Given the description of an element on the screen output the (x, y) to click on. 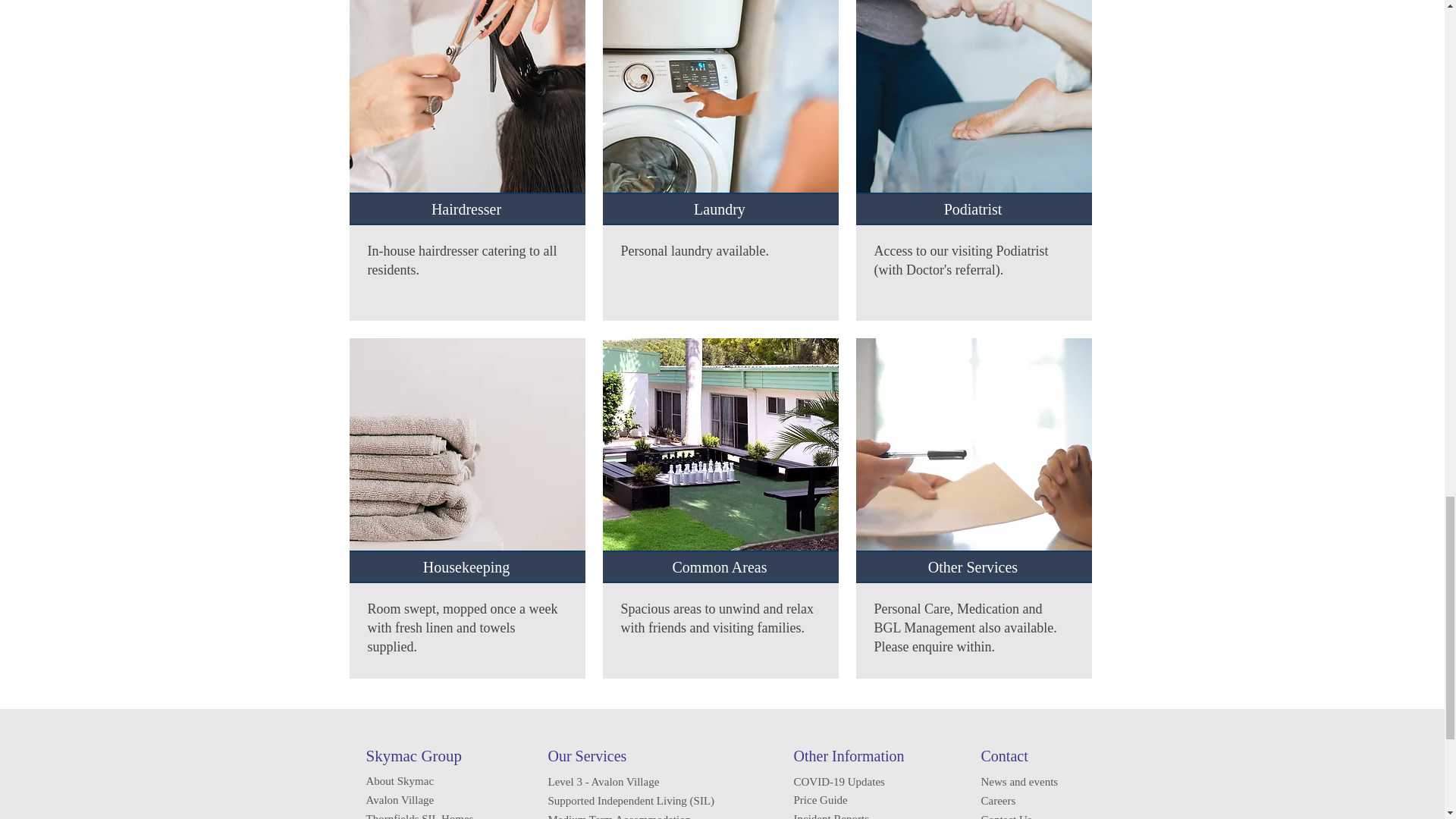
COVID-19 Updates (838, 781)
Level 3 - Avalon Village (603, 781)
Visiting hairdresser cutting hair (467, 107)
Podiatrist providing treatment (973, 107)
Avalon Village (399, 799)
Thornfields SIL Homes (419, 816)
About Skymac (399, 780)
A stack of clean towels (467, 452)
Support coordinator explaining services (973, 452)
Medium Term Accommodation (618, 816)
